Given the description of an element on the screen output the (x, y) to click on. 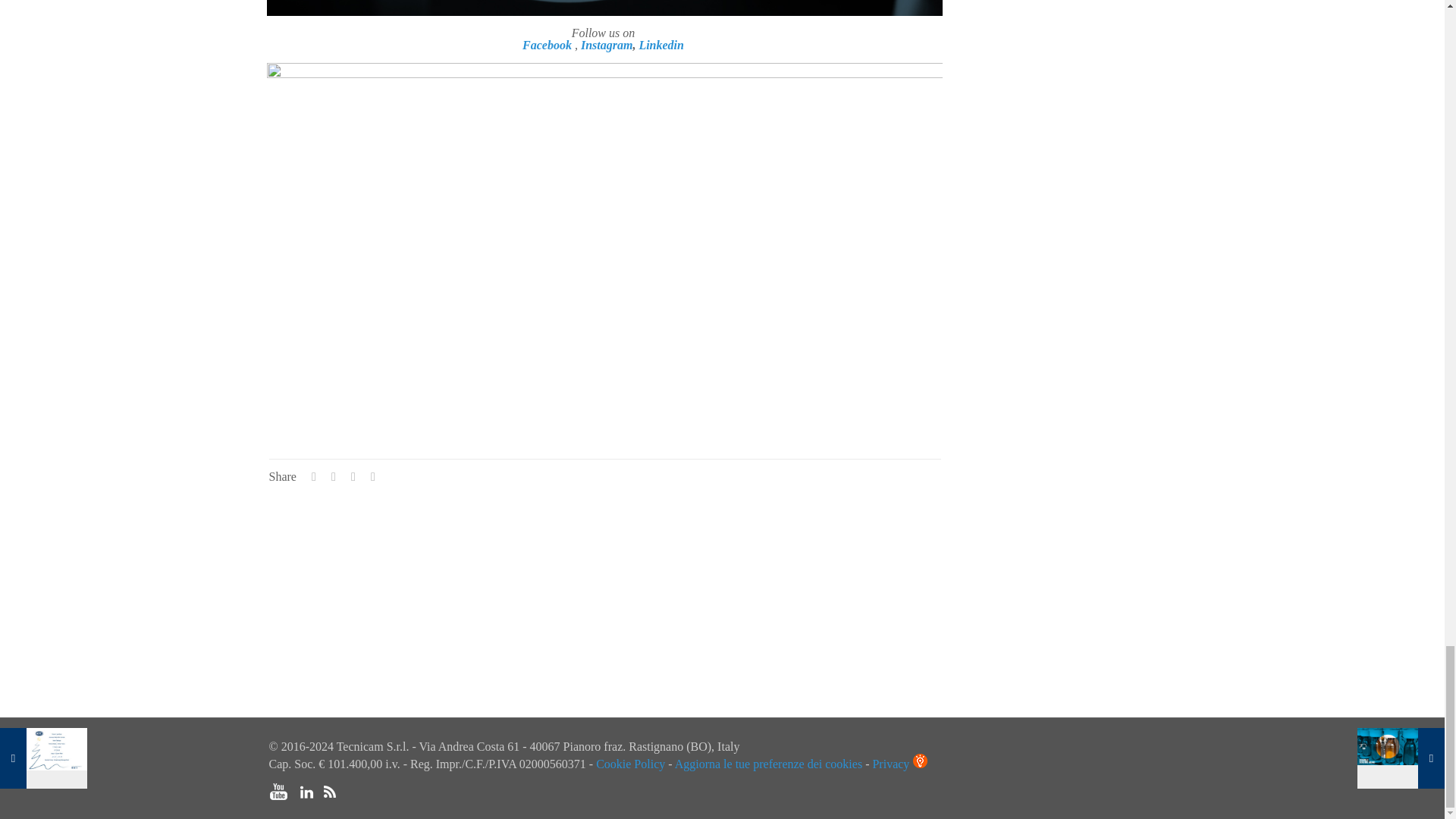
Design by Pronesis Web Agency (1184, 769)
